Given the description of an element on the screen output the (x, y) to click on. 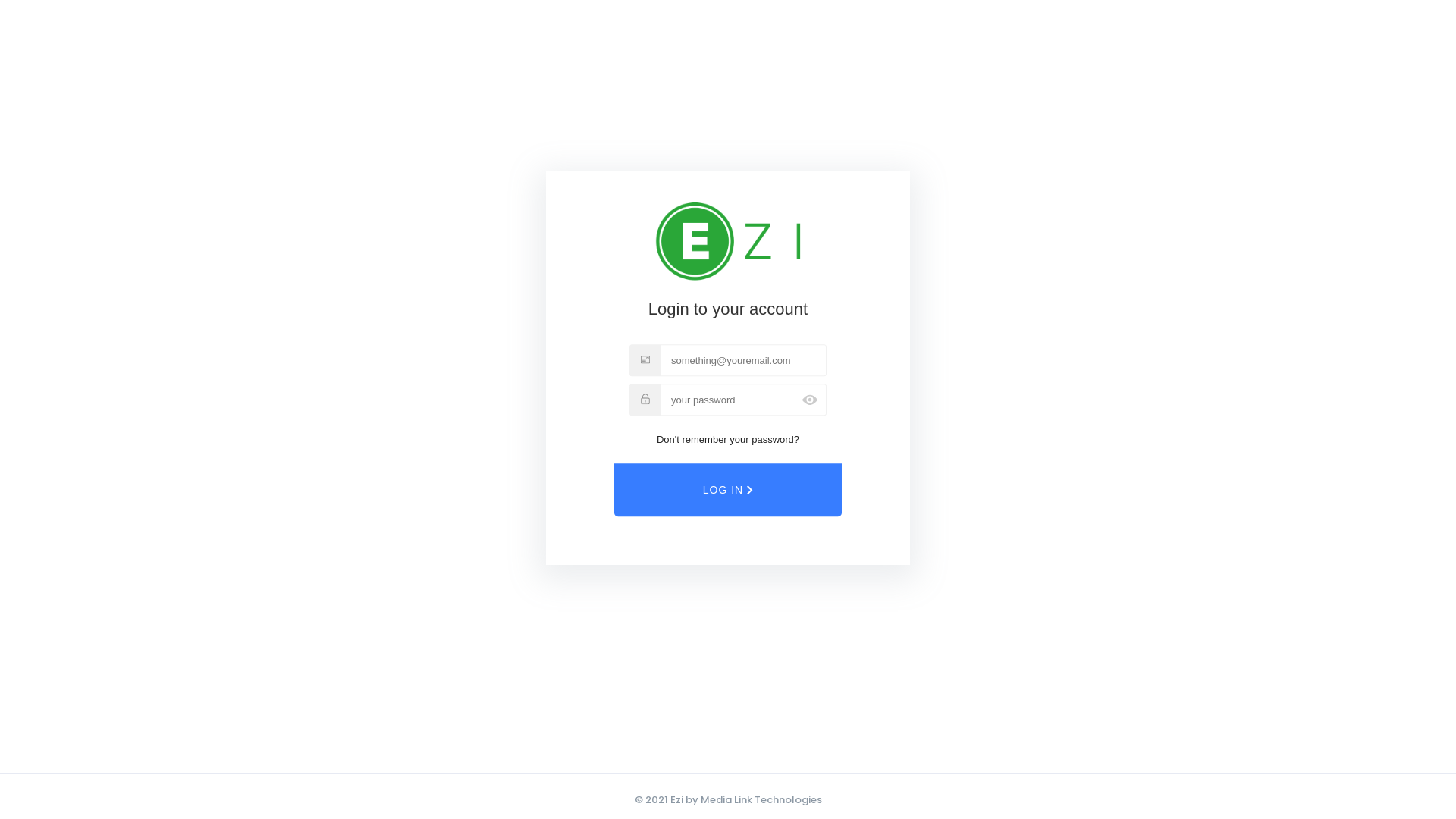
Don't remember your password? Element type: text (727, 439)
Show password Element type: hover (809, 399)
LOG IN Element type: text (727, 490)
